Given the description of an element on the screen output the (x, y) to click on. 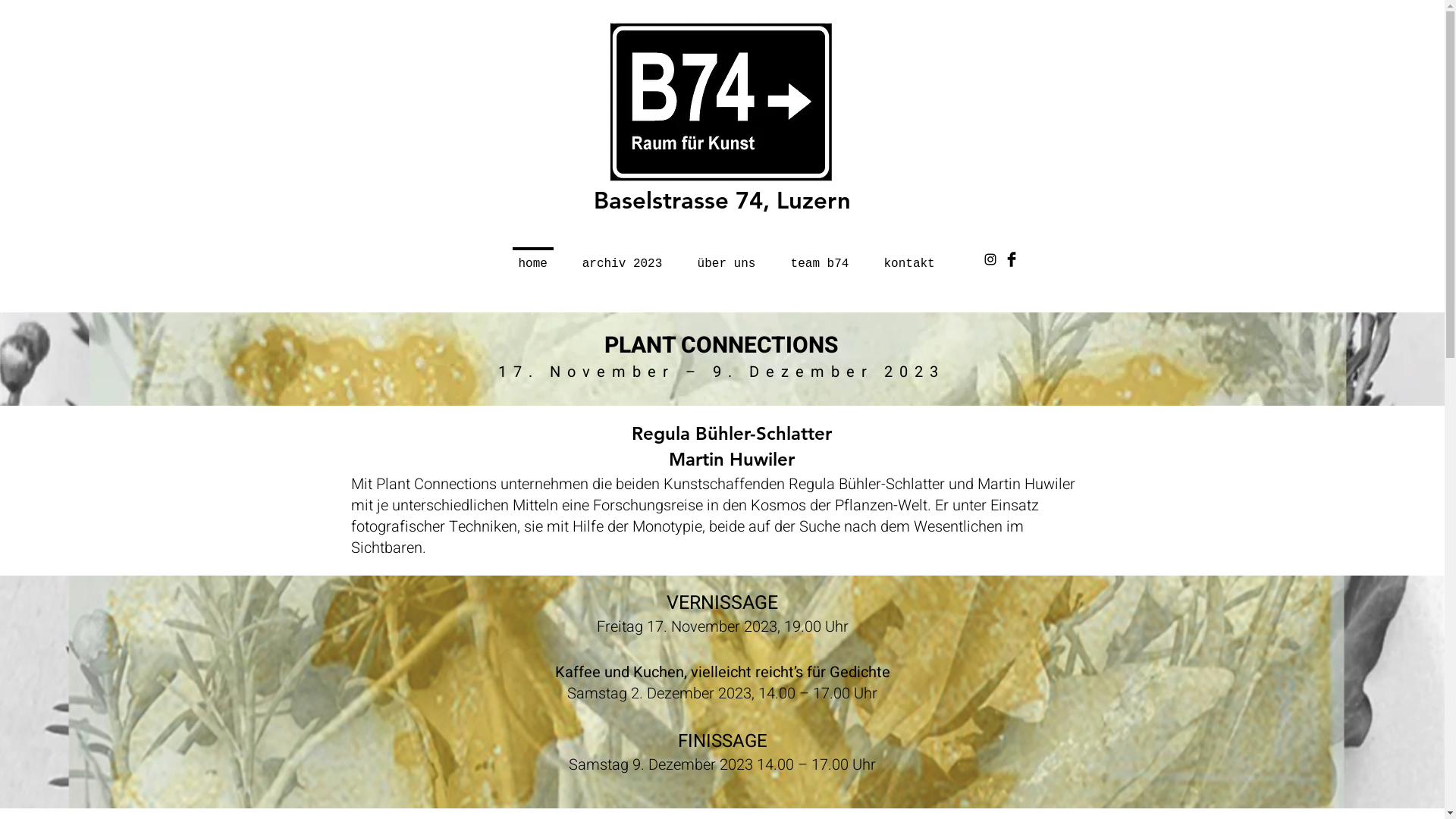
kontakt Element type: text (908, 256)
team b74 Element type: text (819, 256)
home Element type: text (532, 256)
archiv 2023 Element type: text (621, 256)
